Given the description of an element on the screen output the (x, y) to click on. 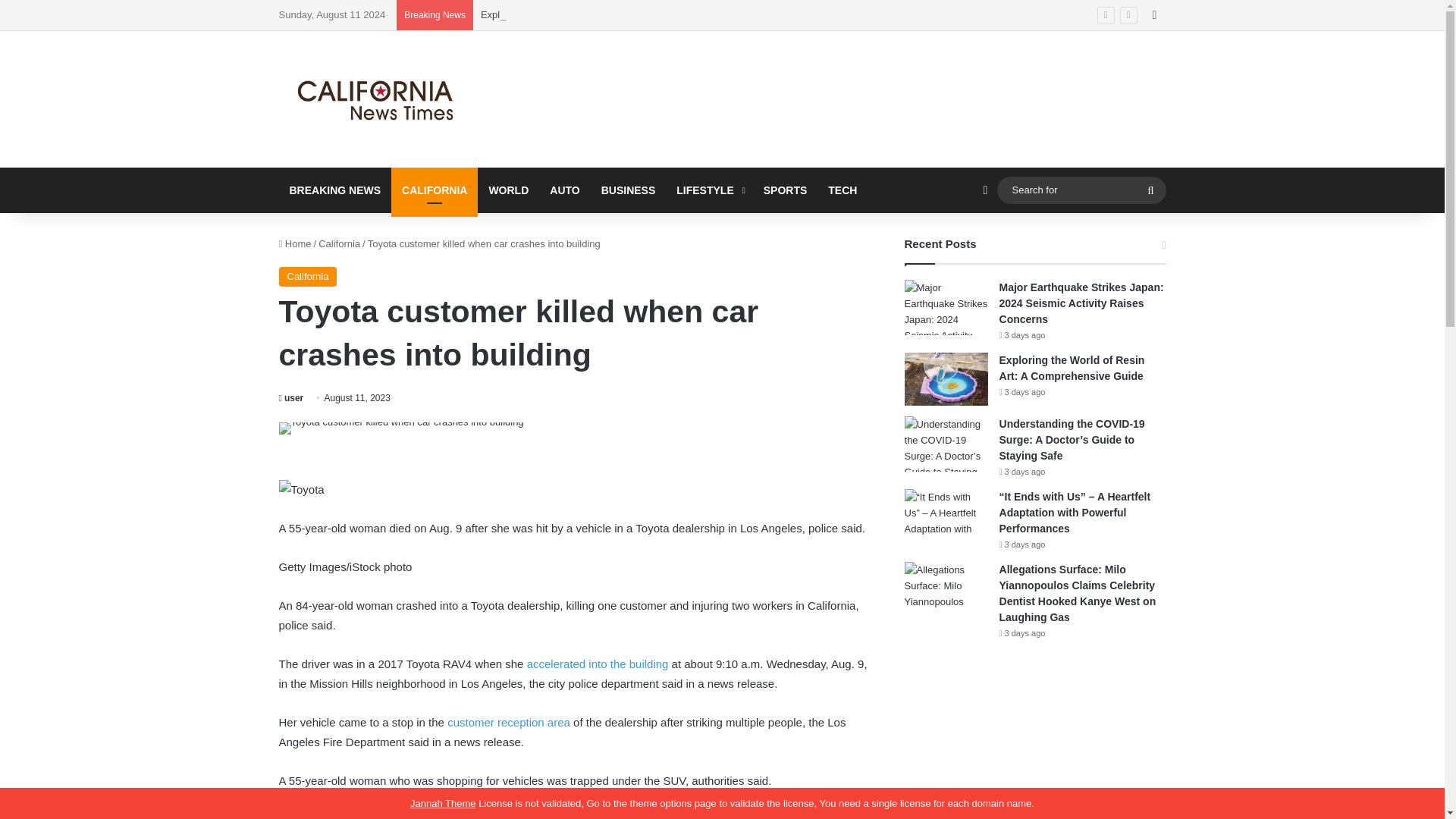
California (308, 276)
user (291, 398)
SPORTS (785, 189)
user (291, 398)
Toyota (301, 489)
Jannah Theme (443, 803)
BUSINESS (628, 189)
Toyota customer killed when car crashes into building (401, 428)
WORLD (507, 189)
TECH (841, 189)
